Given the description of an element on the screen output the (x, y) to click on. 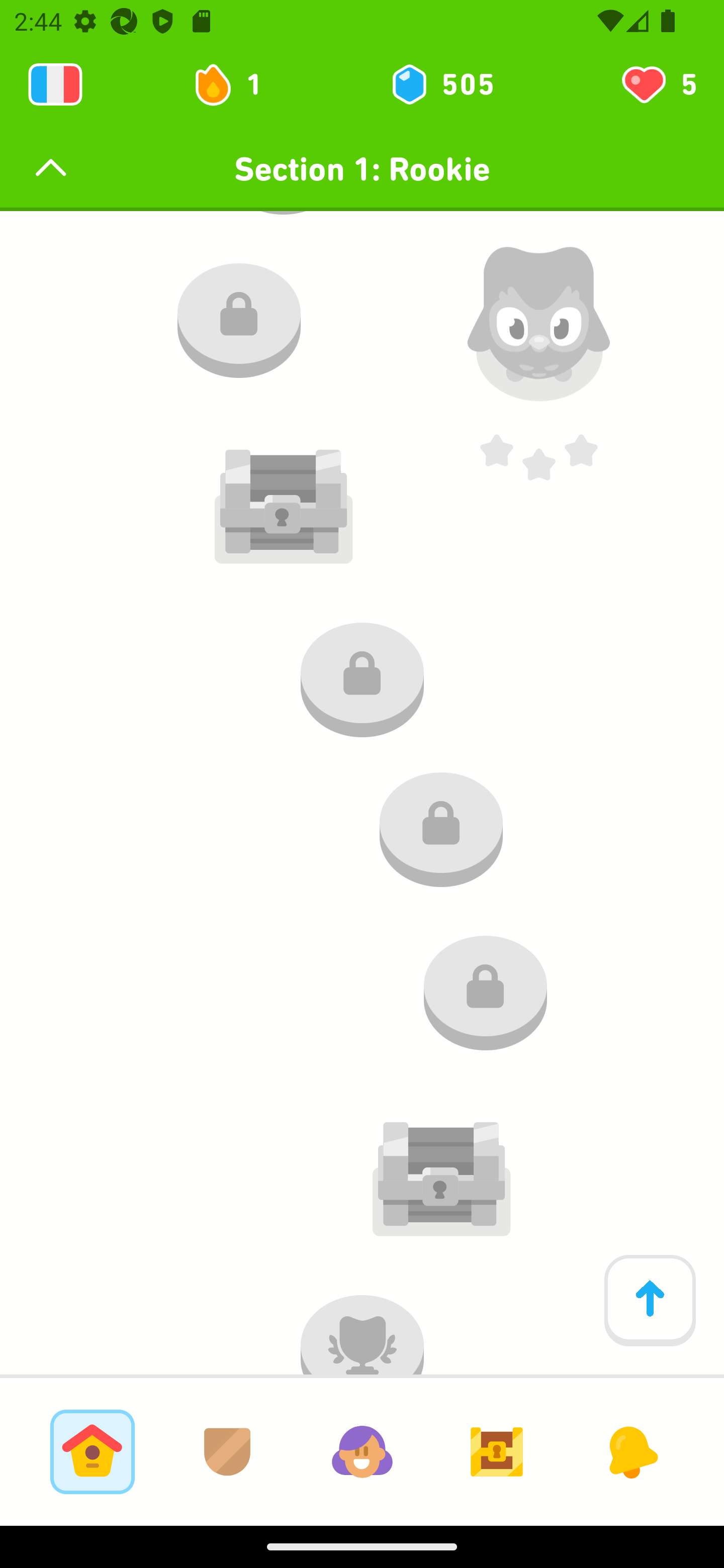
Learning 2131888976 (55, 84)
1 day streak 1 (236, 84)
505 (441, 84)
You have 5 hearts left 5 (657, 84)
Section 1: Rookie (362, 169)
Learn Tab (91, 1451)
Leagues Tab (227, 1451)
Profile Tab (361, 1451)
Goals Tab (496, 1451)
News Tab (631, 1451)
